Given the description of an element on the screen output the (x, y) to click on. 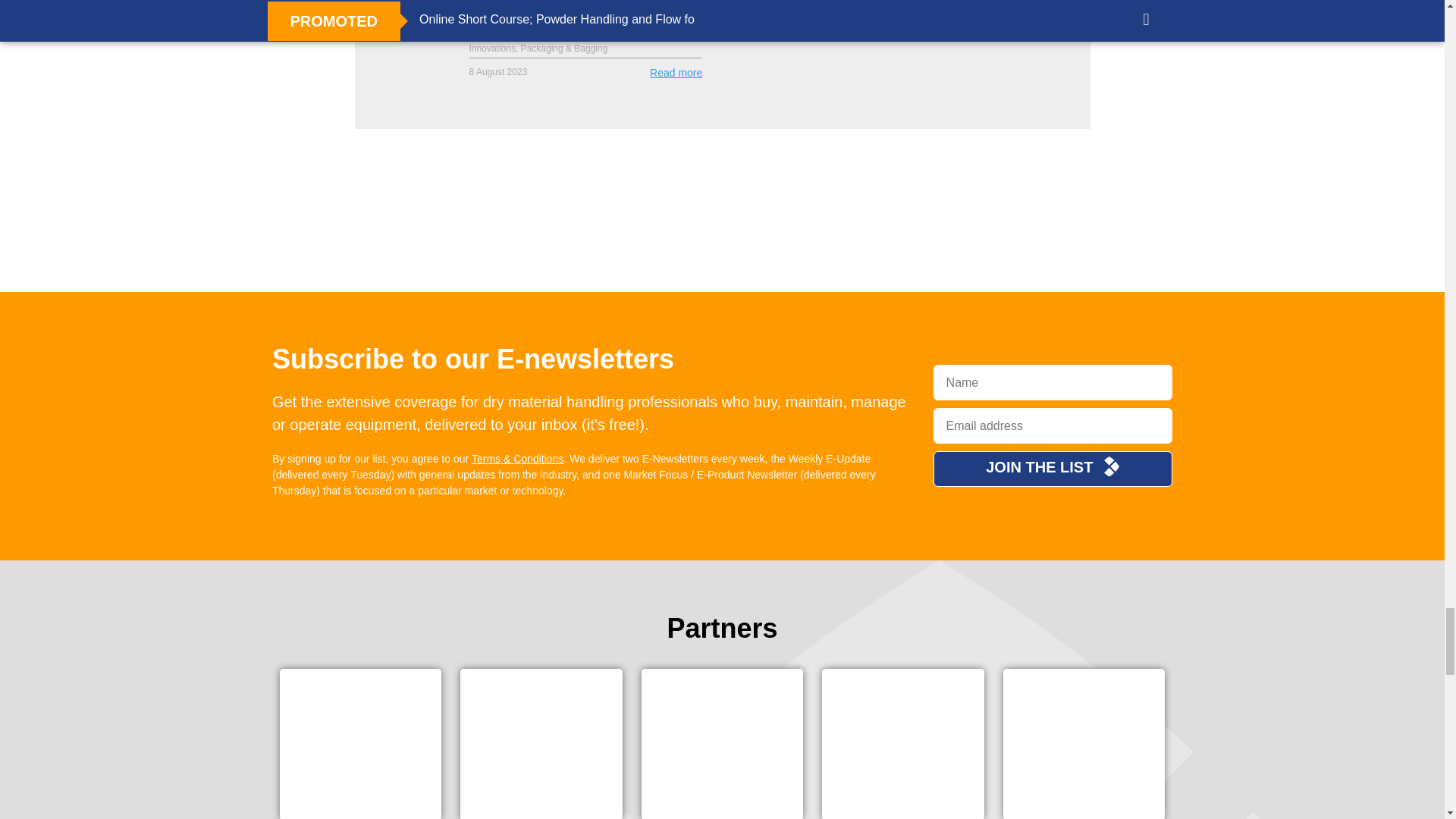
Bulk Handling and Process Engineering (468, 289)
